Given the description of an element on the screen output the (x, y) to click on. 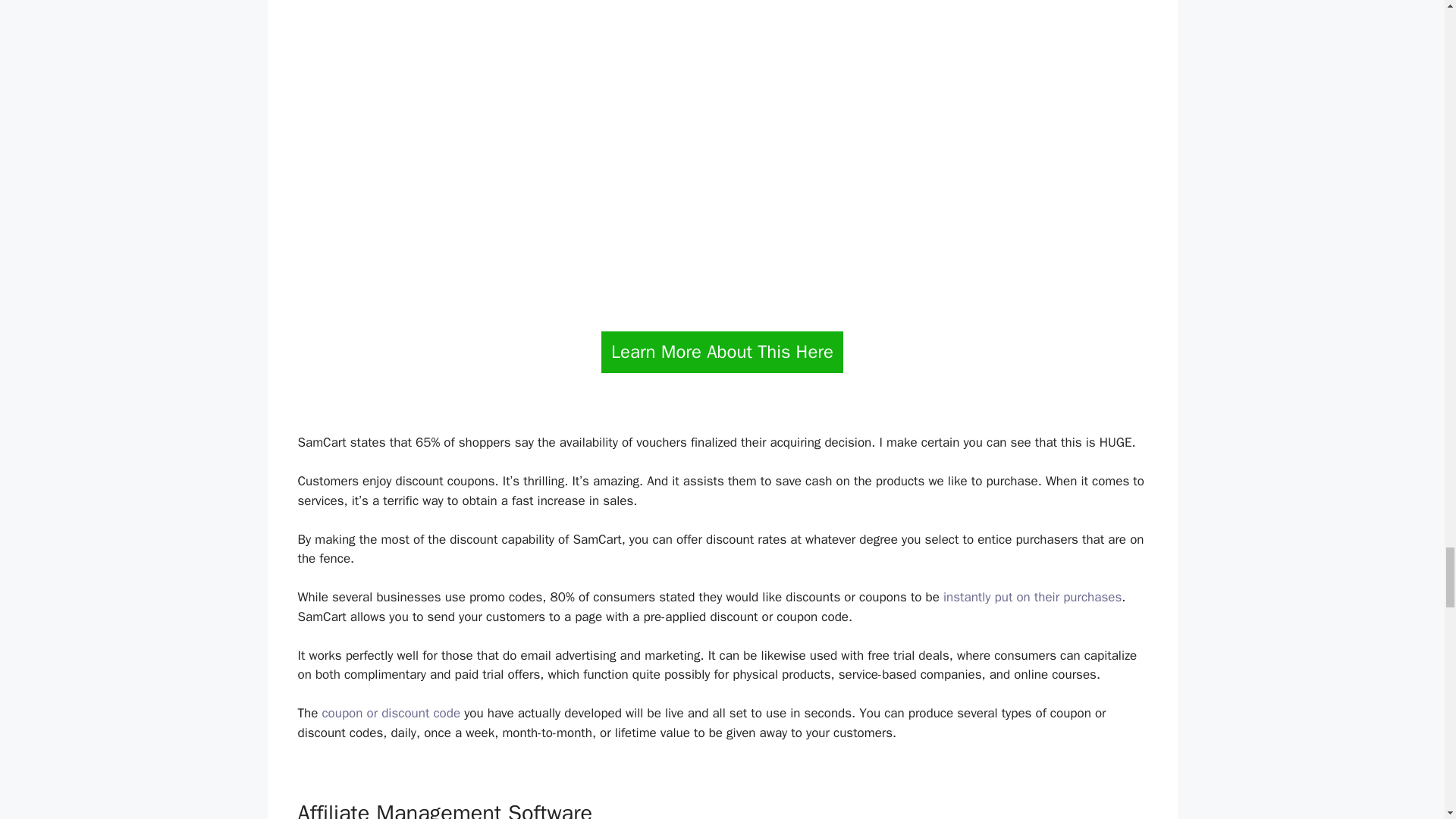
Learn More About This Here (722, 352)
coupon or discount code (390, 713)
instantly put on their purchases (1032, 596)
